Given the description of an element on the screen output the (x, y) to click on. 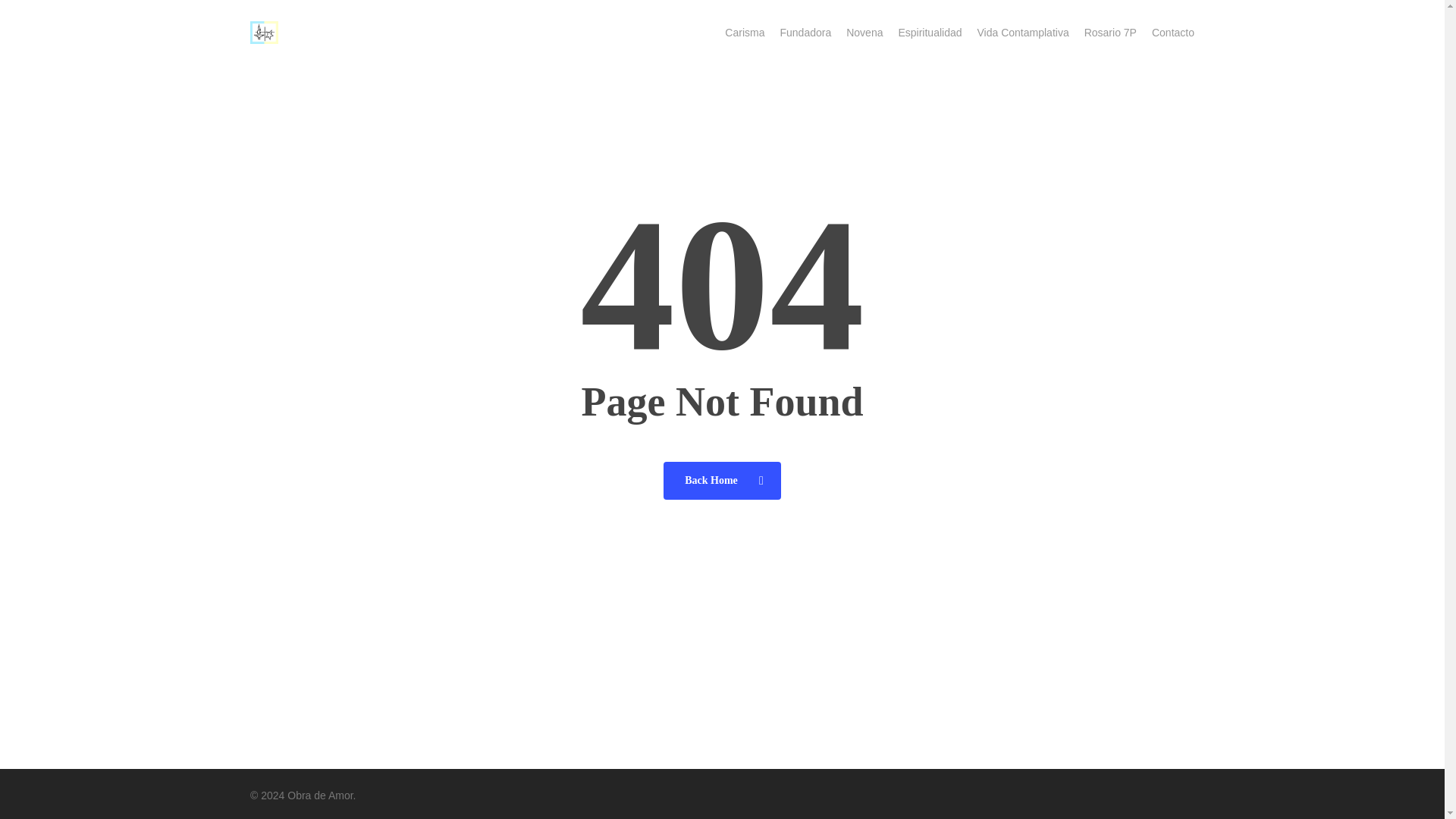
Contacto (1172, 32)
Fundadora (804, 32)
Vida Contamplativa (1022, 32)
Novena (863, 32)
Carisma (744, 32)
Rosario 7P (1110, 32)
Espiritualidad (929, 32)
Back Home (721, 479)
